Given the description of an element on the screen output the (x, y) to click on. 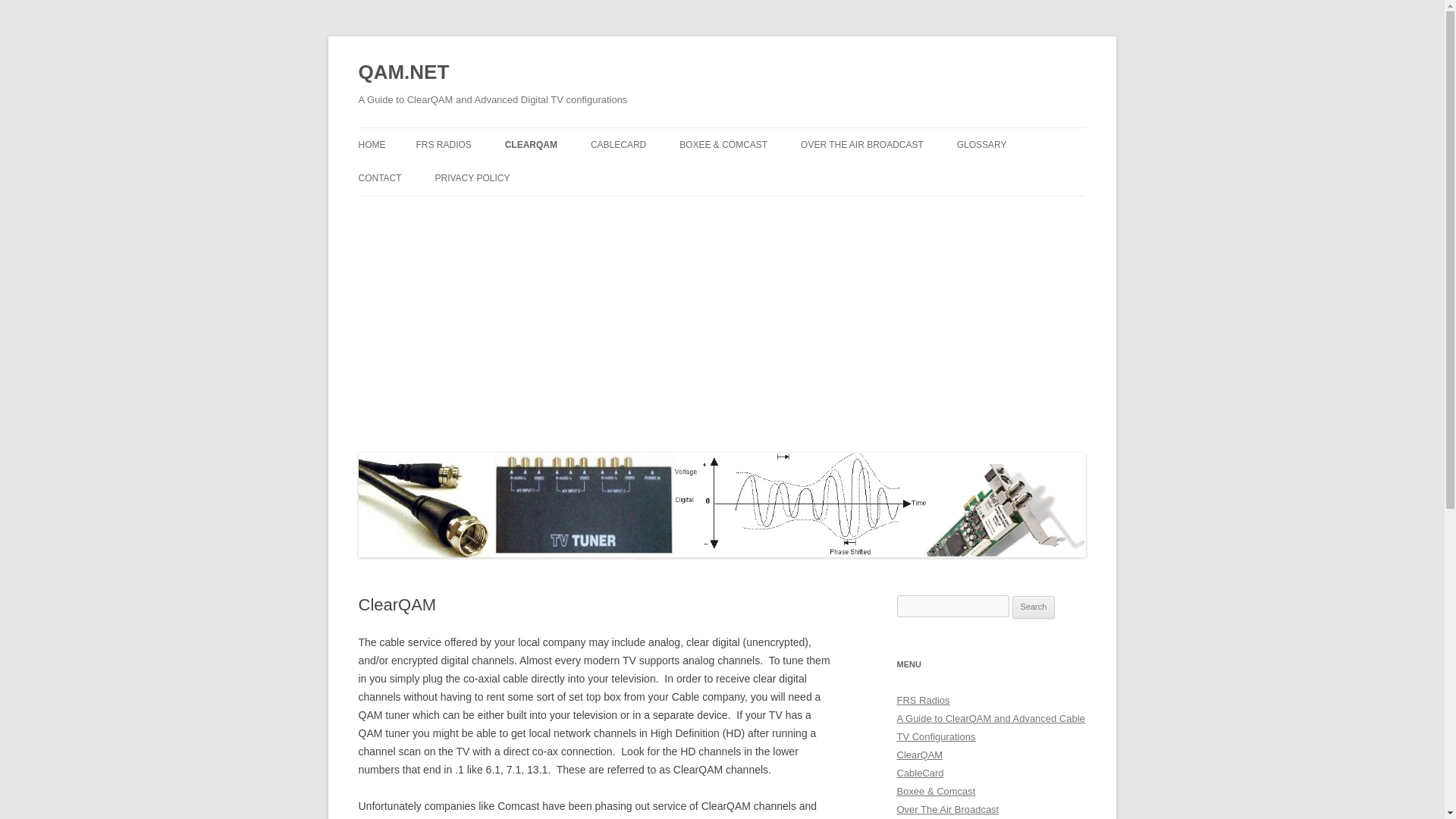
CableCard (919, 772)
Over The Air Broadcast (947, 808)
Search (1033, 607)
FRS RADIOS (442, 144)
QAM.NET (403, 72)
CLEARQAM (531, 144)
OVER THE AIR BROADCAST (861, 144)
A Guide to ClearQAM and Advanced Cable TV Configurations (990, 727)
